Given the description of an element on the screen output the (x, y) to click on. 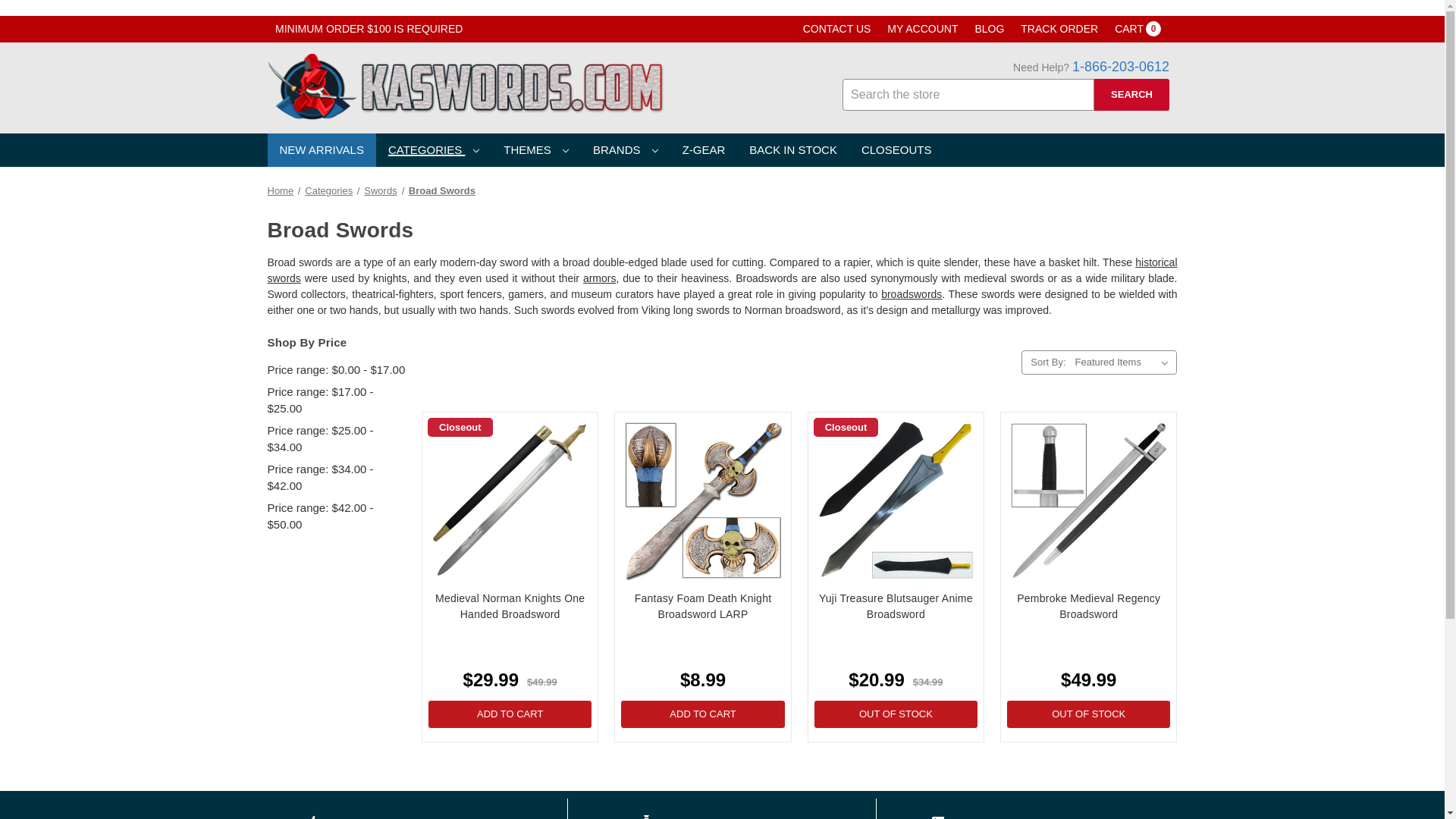
TRACK ORDER (1058, 28)
Medieval Norman Knights One Handed Broadsword (509, 499)
SEARCH (1131, 94)
Kaswords.com (464, 87)
CONTACT US (836, 28)
CATEGORIES (433, 150)
Yuji Treasure Blutsauger Anime Broadsword (895, 499)
MY ACCOUNT (922, 28)
BLOG (988, 28)
Fantasy Foam Death Knight Broadsword LARP (703, 499)
Pembroke Medieval Regency Broadsword (1137, 28)
1-866-203-0612 (1089, 499)
NEW ARRIVALS (1120, 66)
